Given the description of an element on the screen output the (x, y) to click on. 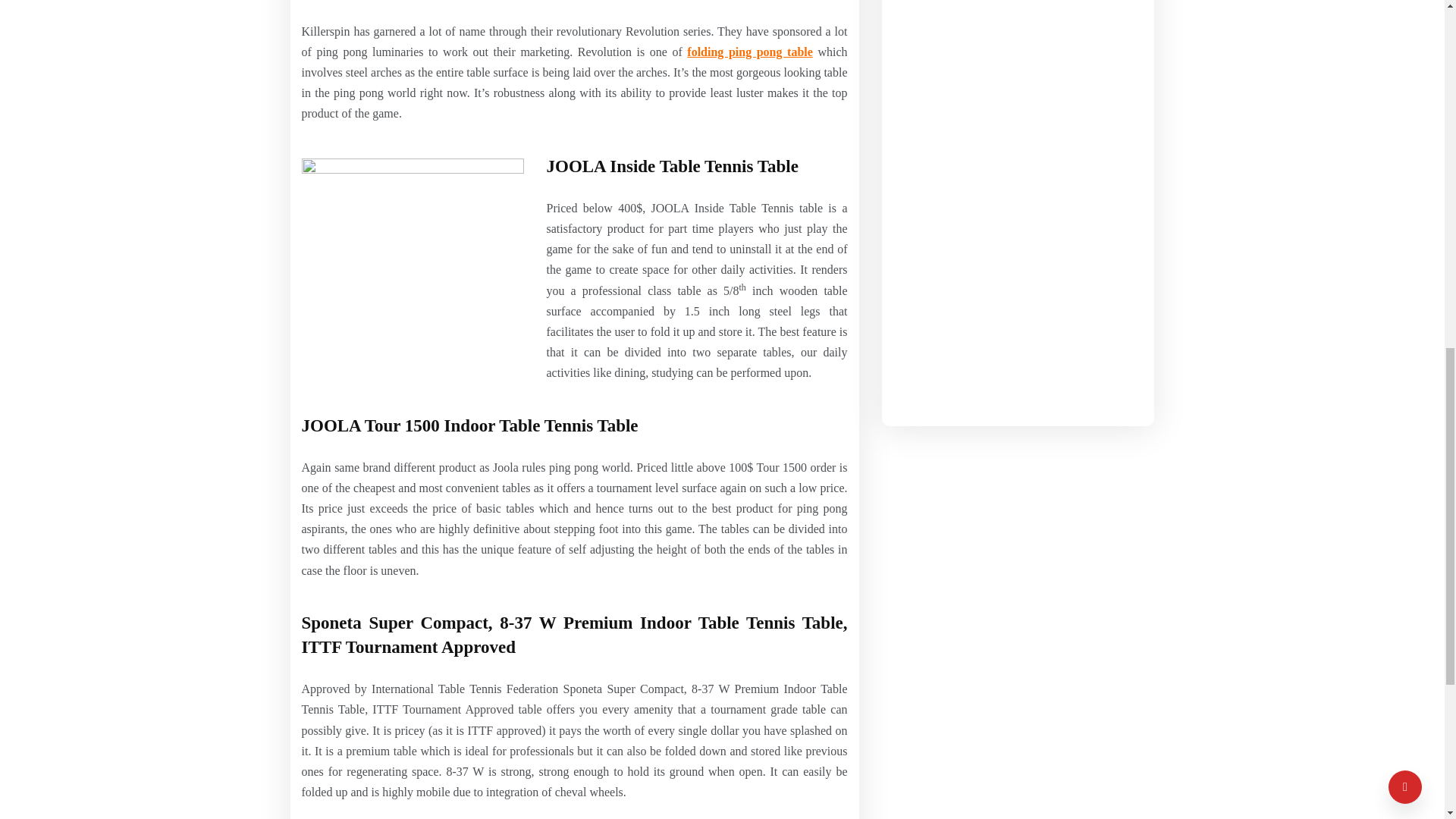
folding ping pong table (749, 51)
